Given the description of an element on the screen output the (x, y) to click on. 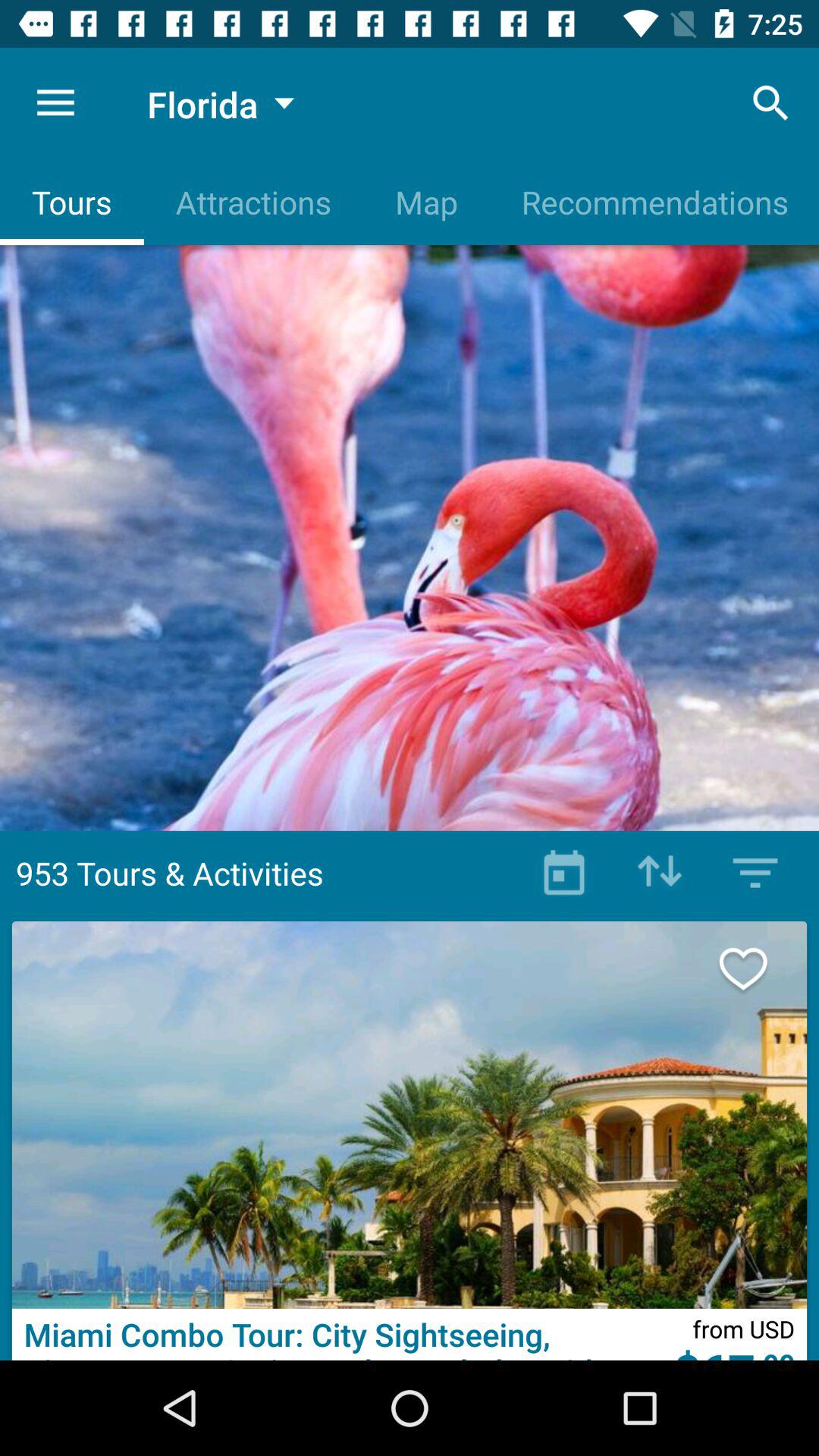
see next (759, 969)
